Given the description of an element on the screen output the (x, y) to click on. 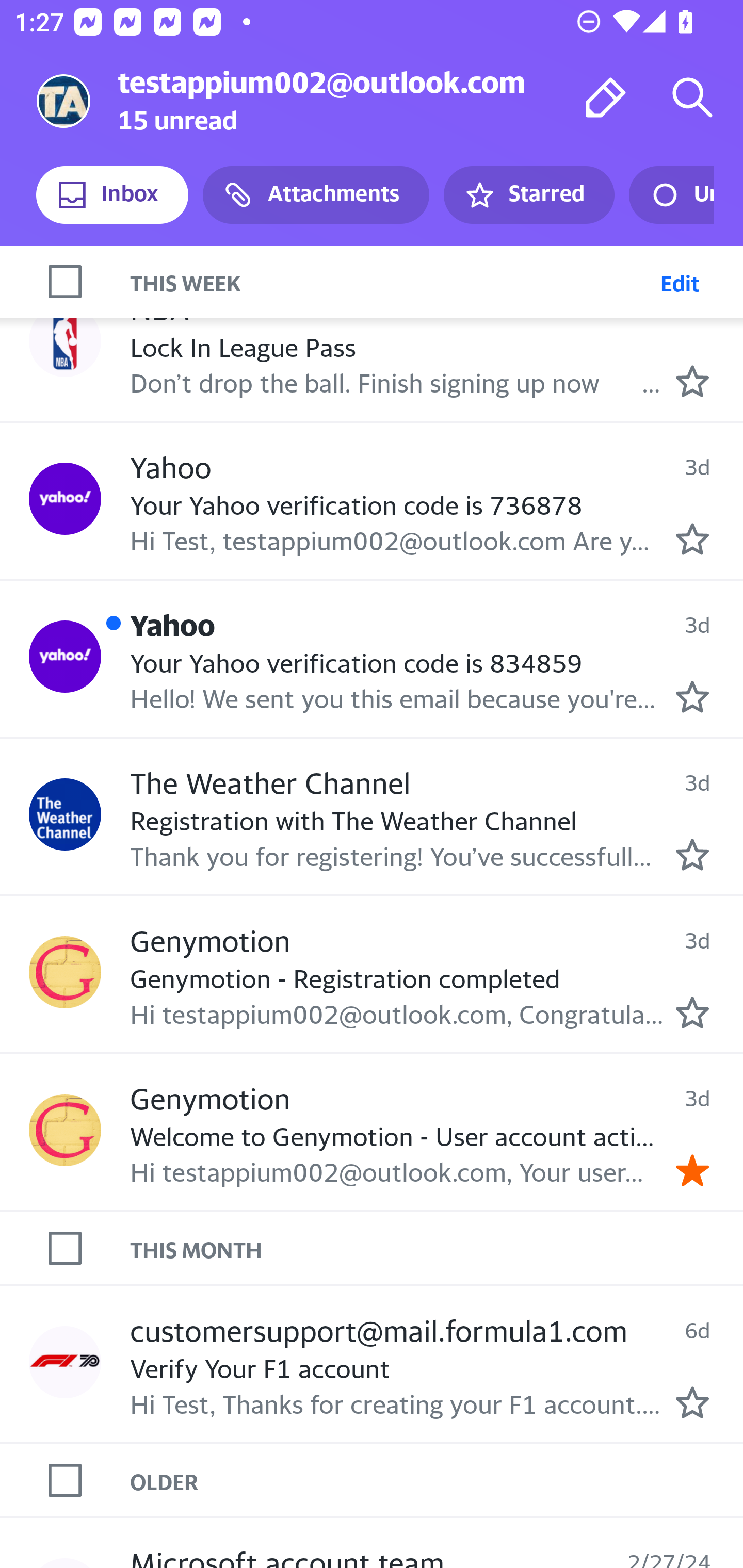
Compose (605, 97)
Search mail (692, 97)
Attachments (315, 195)
Starred (528, 195)
Profile
NBA (64, 340)
Mark as starred. (692, 381)
Profile
Yahoo (64, 498)
Mark as starred. (692, 538)
Profile
Yahoo (64, 656)
Mark as starred. (692, 696)
Profile
The Weather Channel (64, 813)
Mark as starred. (692, 855)
Profile
Genymotion (64, 972)
Mark as starred. (692, 1012)
Profile
Genymotion (64, 1130)
Remove star. (692, 1170)
THIS MONTH (436, 1248)
Profile
customersupport@mail.formula1.com (64, 1362)
Mark as starred. (692, 1402)
OLDER (436, 1480)
